Given the description of an element on the screen output the (x, y) to click on. 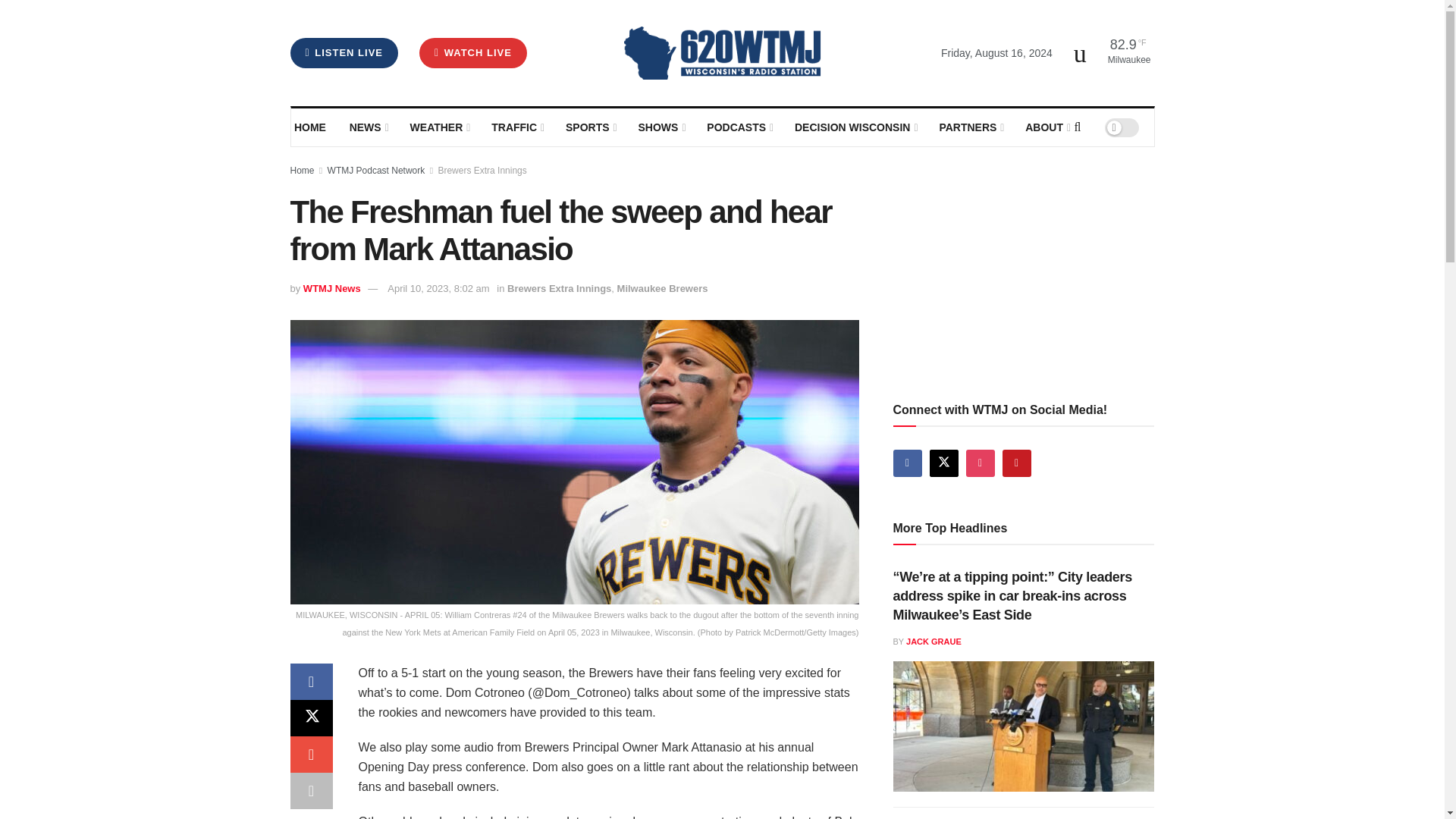
HOME (310, 127)
WATCH LIVE (473, 52)
SPORTS (589, 127)
WEATHER (438, 127)
TRAFFIC (516, 127)
LISTEN LIVE (343, 52)
NEWS (368, 127)
